Given the description of an element on the screen output the (x, y) to click on. 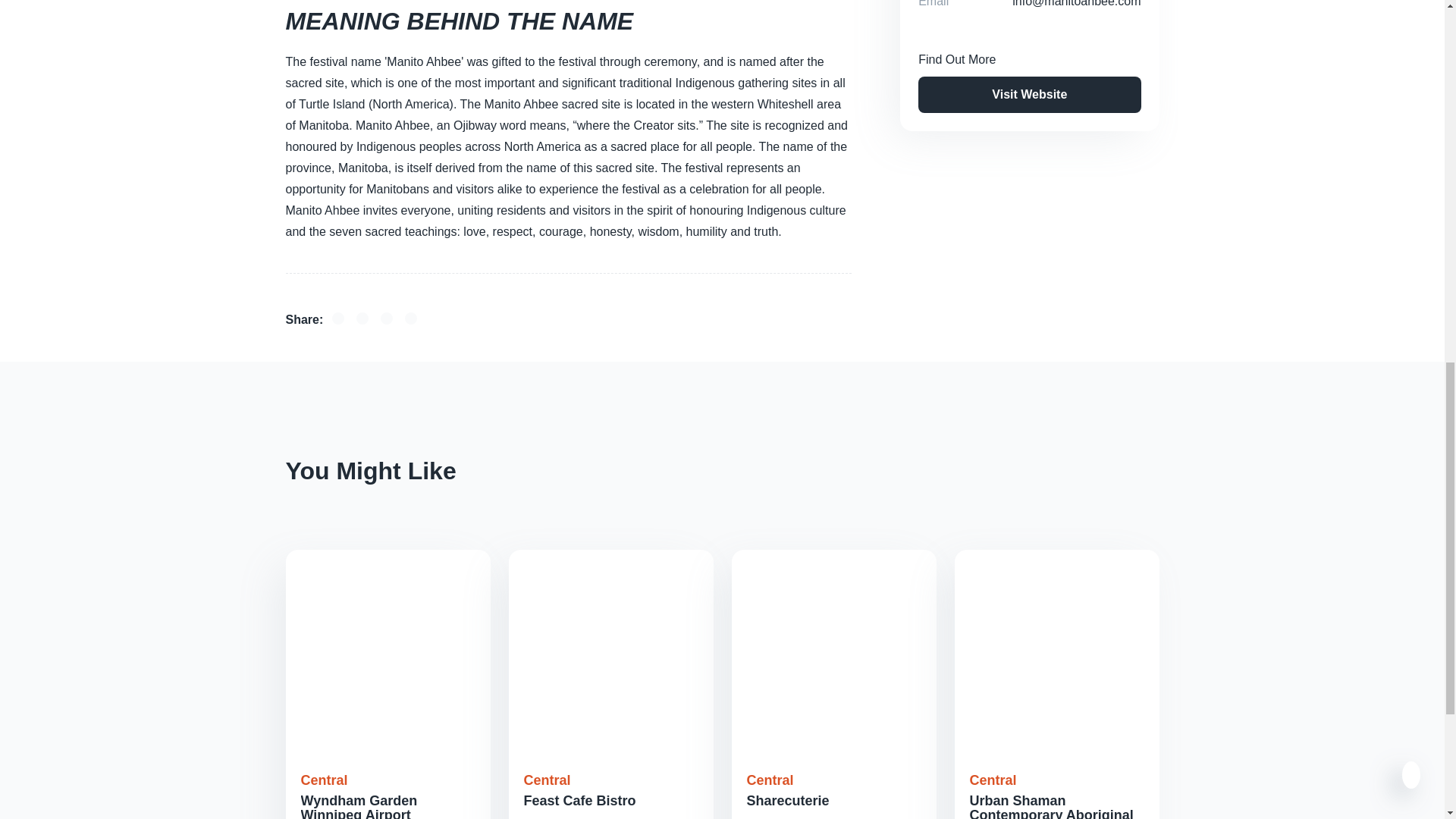
Urban Shaman Contemporary Aboriginal Art Gallery (1050, 806)
Wyndham Garden Winnipeg Airport (357, 806)
Feast Cafe Bistro (578, 800)
Visit Website (1029, 94)
Sharecuterie (786, 800)
Visit Website (1029, 94)
